Given the description of an element on the screen output the (x, y) to click on. 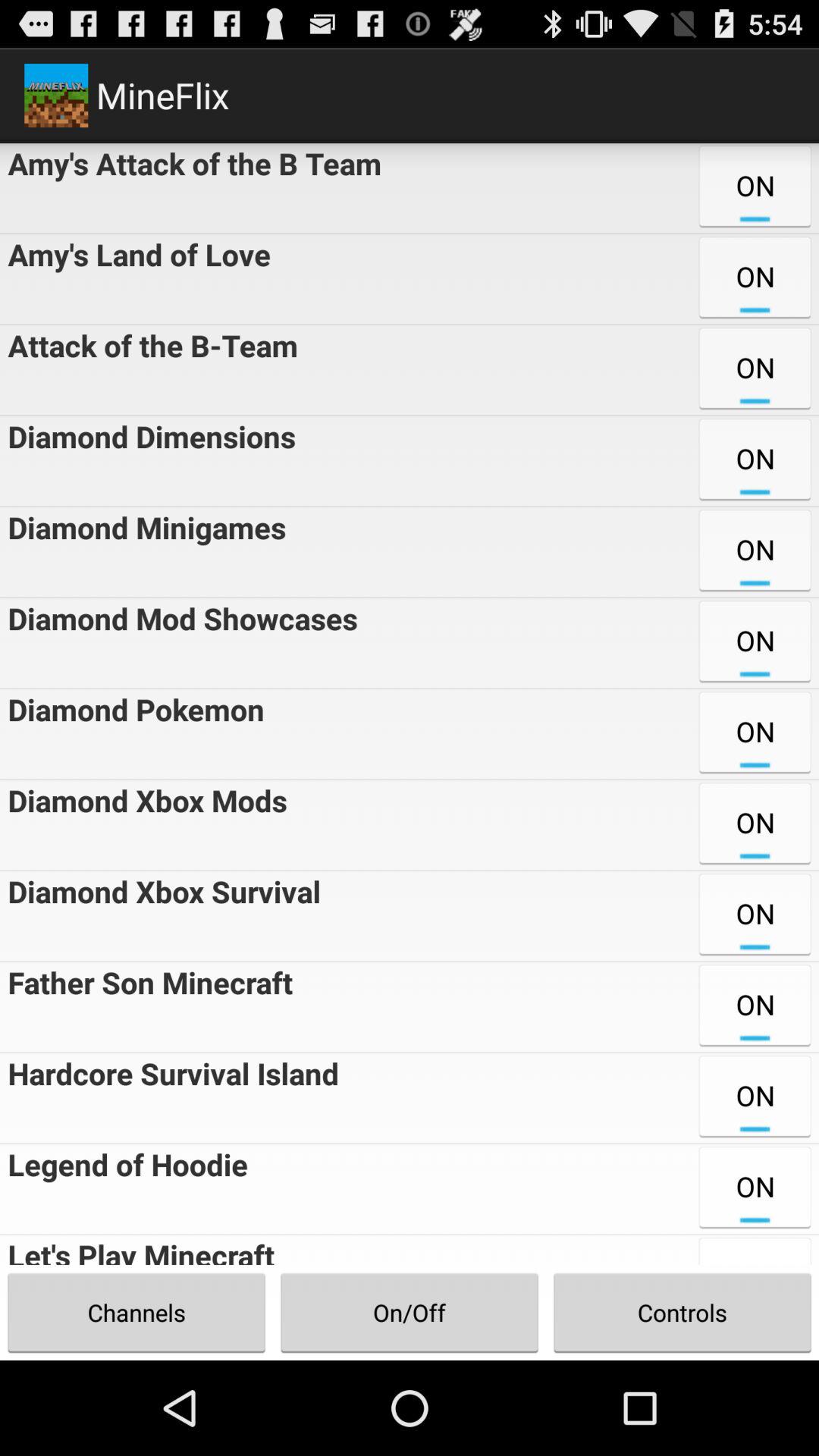
select button next to controls icon (409, 1312)
